Given the description of an element on the screen output the (x, y) to click on. 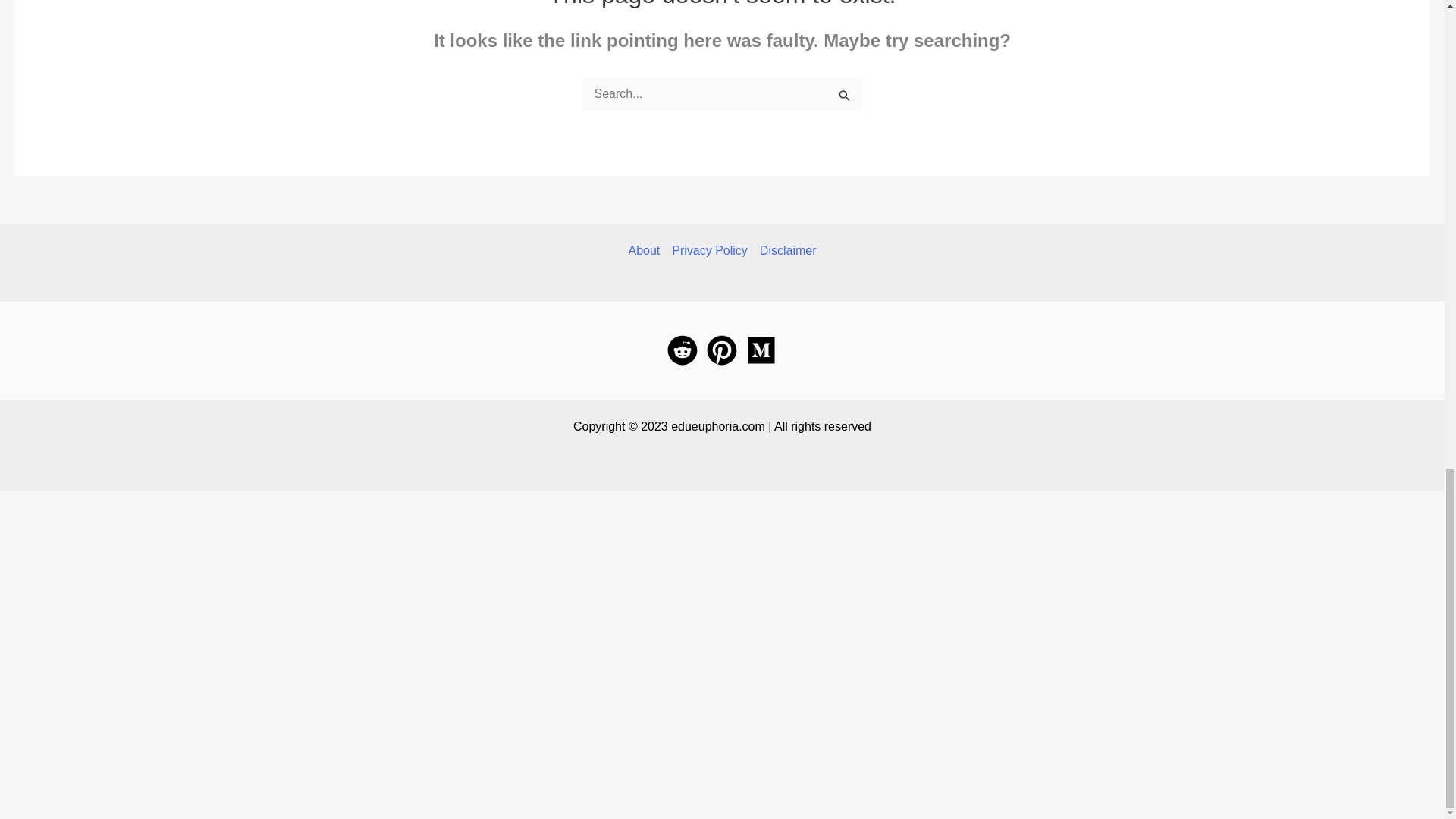
Advertisement (284, 698)
Privacy Policy (709, 250)
Disclaimer (785, 250)
About (646, 250)
